Given the description of an element on the screen output the (x, y) to click on. 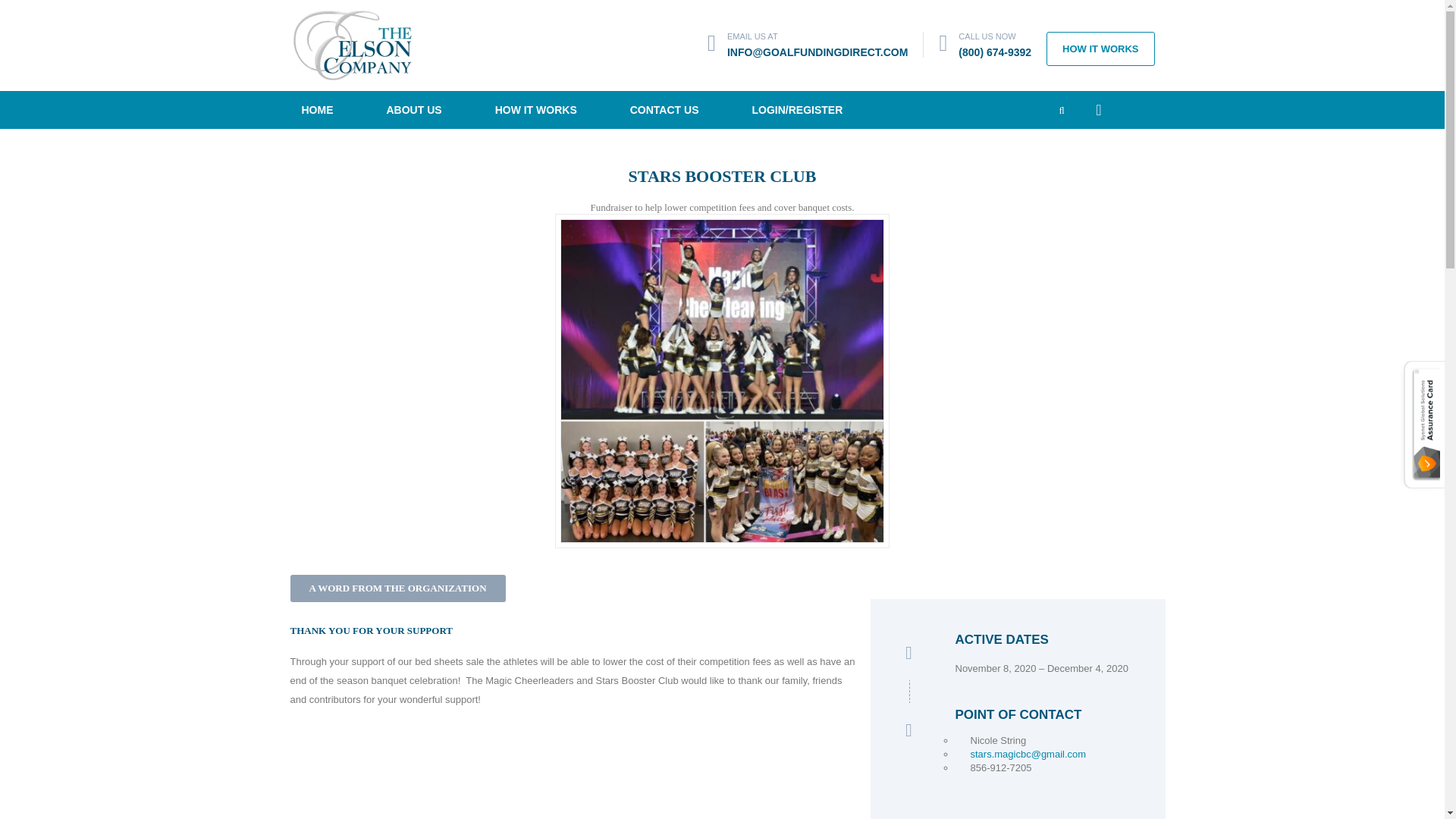
HOW IT WORKS (1100, 48)
Email Us (816, 51)
HOME (316, 109)
ABOUT US (413, 109)
HOW IT WORKS (1100, 48)
The Elson Company, LLC (351, 43)
HOW IT WORKS (535, 109)
CONTACT US (664, 109)
